Given the description of an element on the screen output the (x, y) to click on. 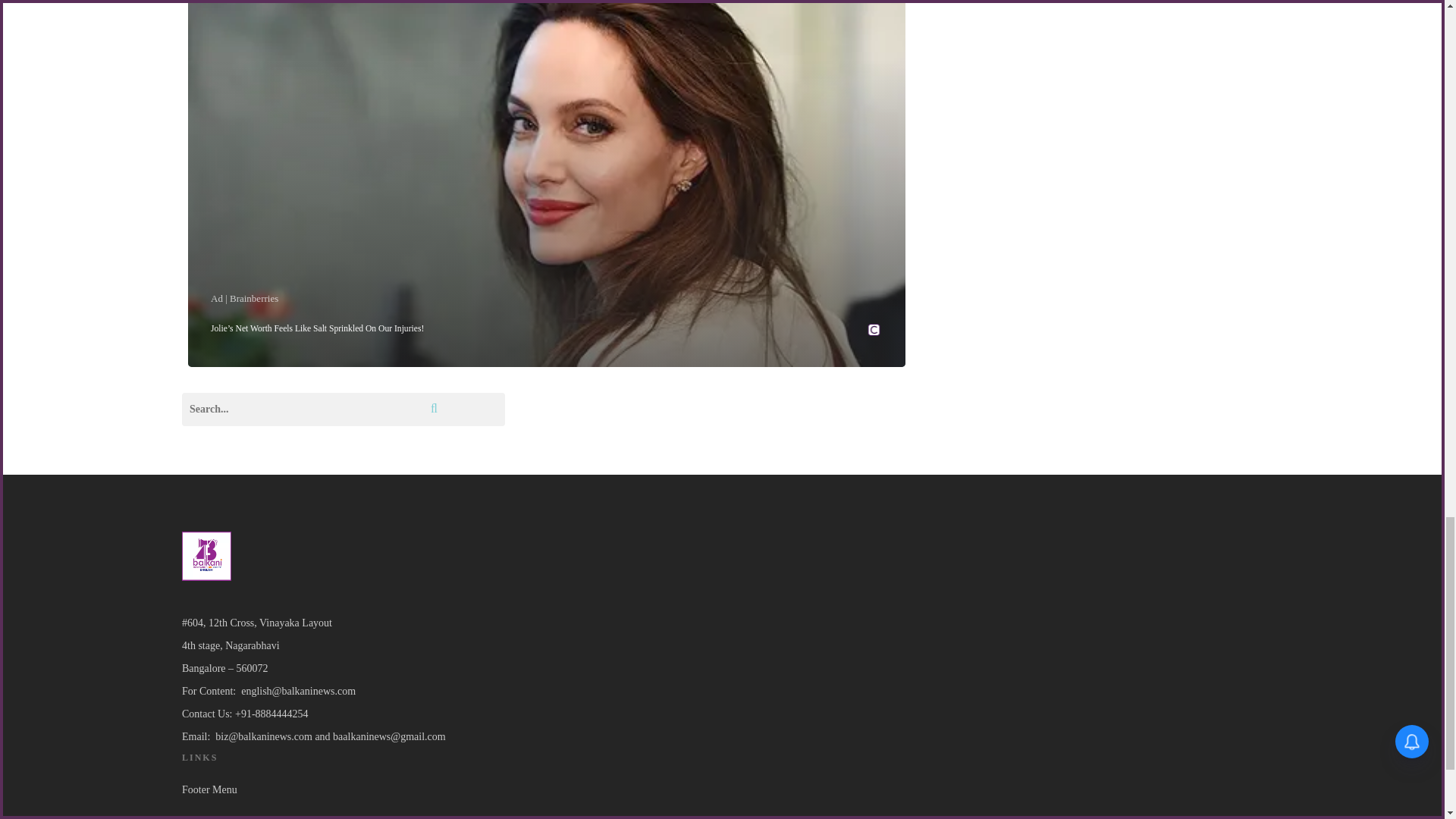
Search for: (343, 409)
